Given the description of an element on the screen output the (x, y) to click on. 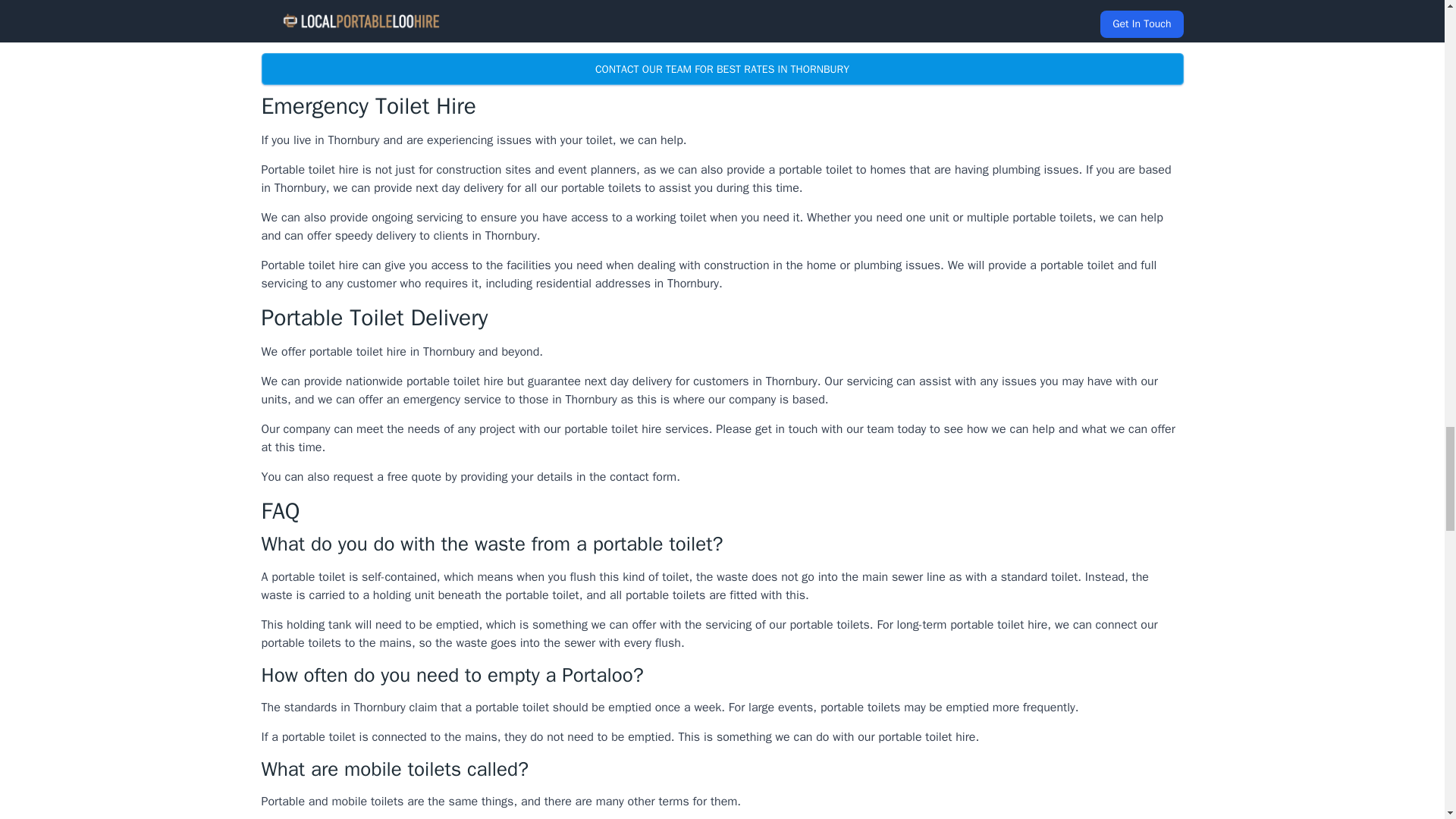
CONTACT OUR TEAM FOR BEST RATES IN THORNBURY (721, 69)
